Given the description of an element on the screen output the (x, y) to click on. 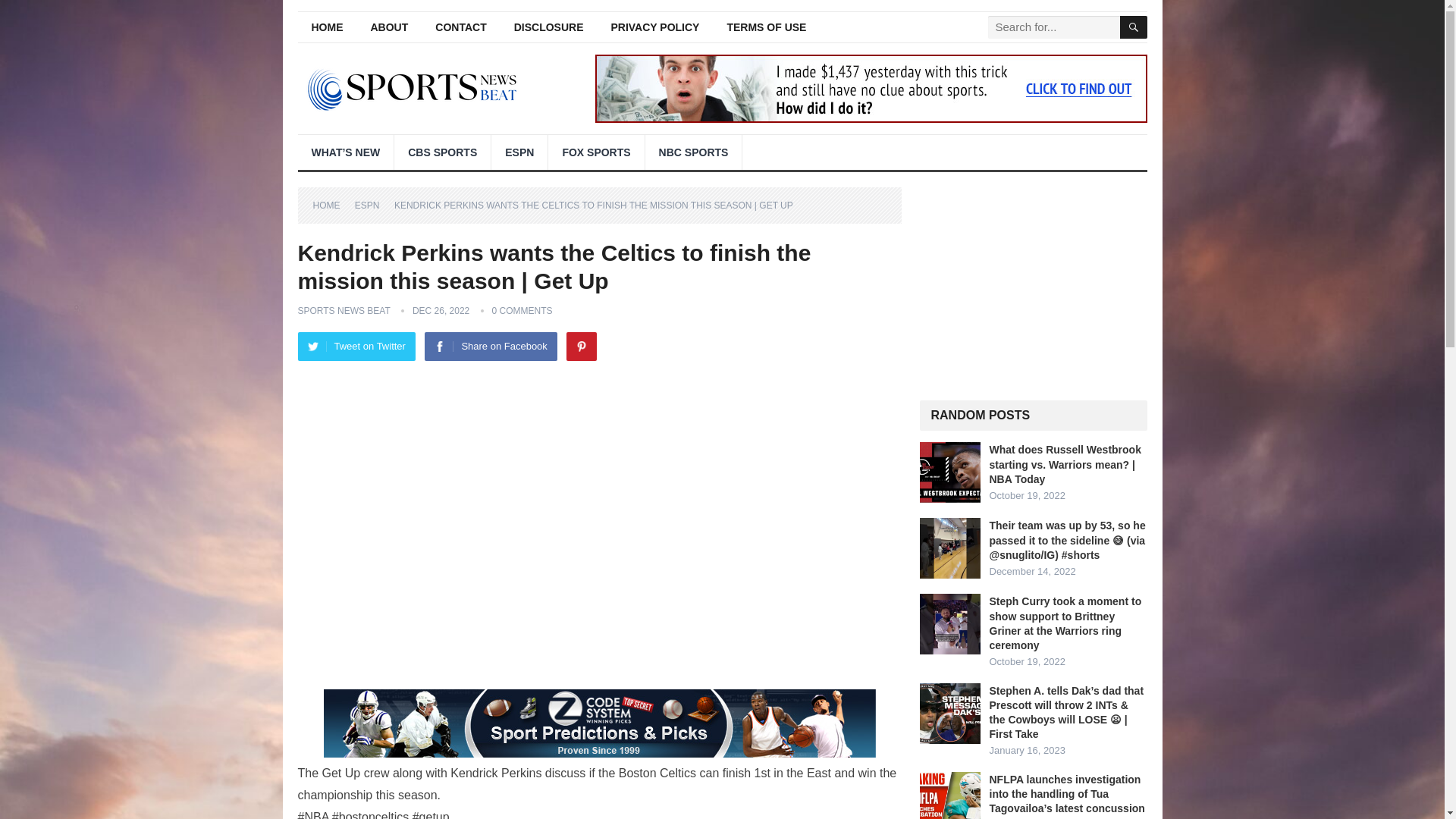
HOME (331, 204)
ESPN (372, 204)
PRIVACY POLICY (654, 27)
Pinterest (581, 346)
TERMS OF USE (766, 27)
CONTACT (460, 27)
0 COMMENTS (522, 310)
HOME (326, 27)
SPORTS NEWS BEAT (343, 310)
